Given the description of an element on the screen output the (x, y) to click on. 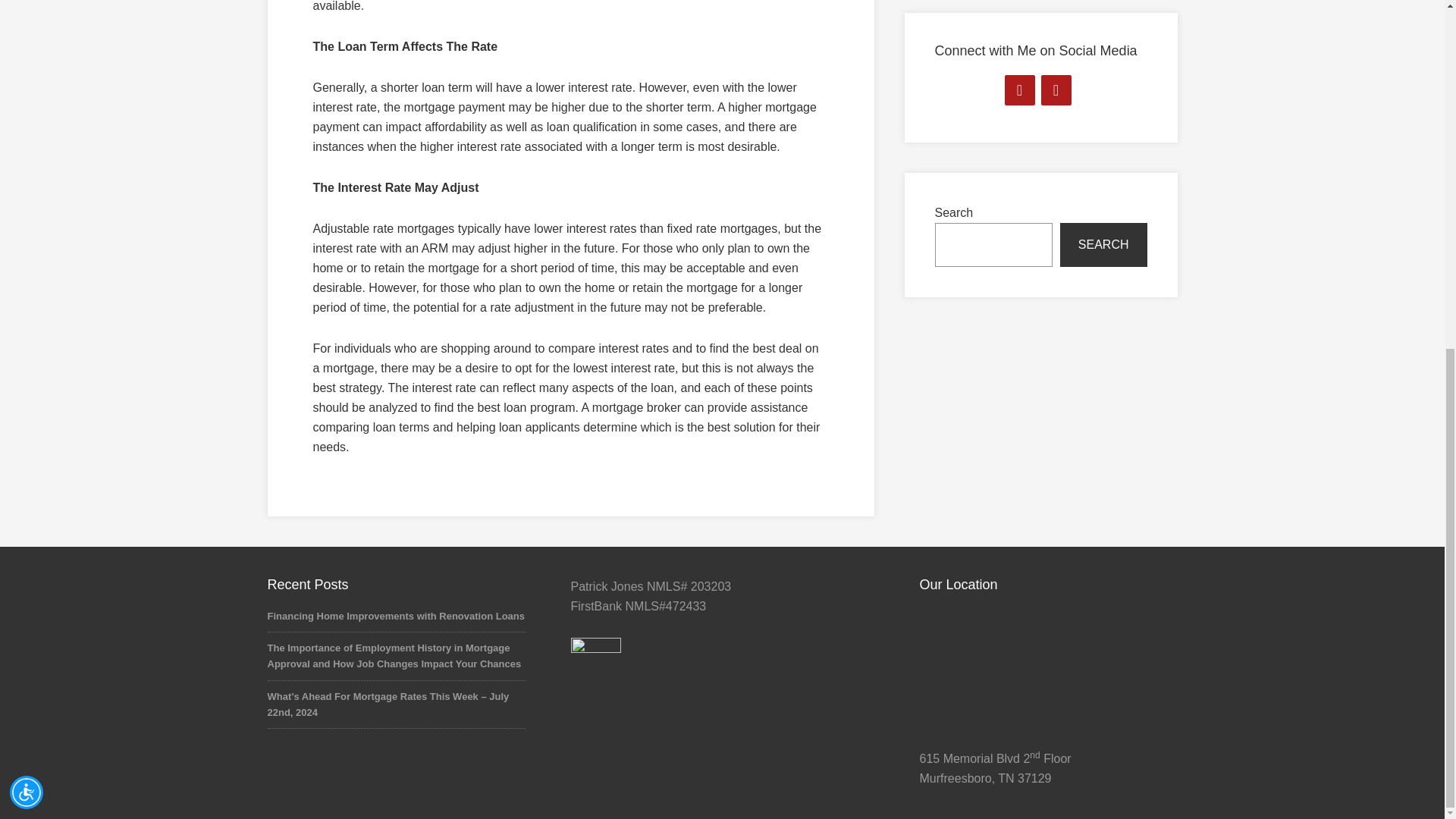
Financing Home Improvements with Renovation Loans (395, 615)
Accessibility Menu (26, 191)
SEARCH (1103, 244)
